Given the description of an element on the screen output the (x, y) to click on. 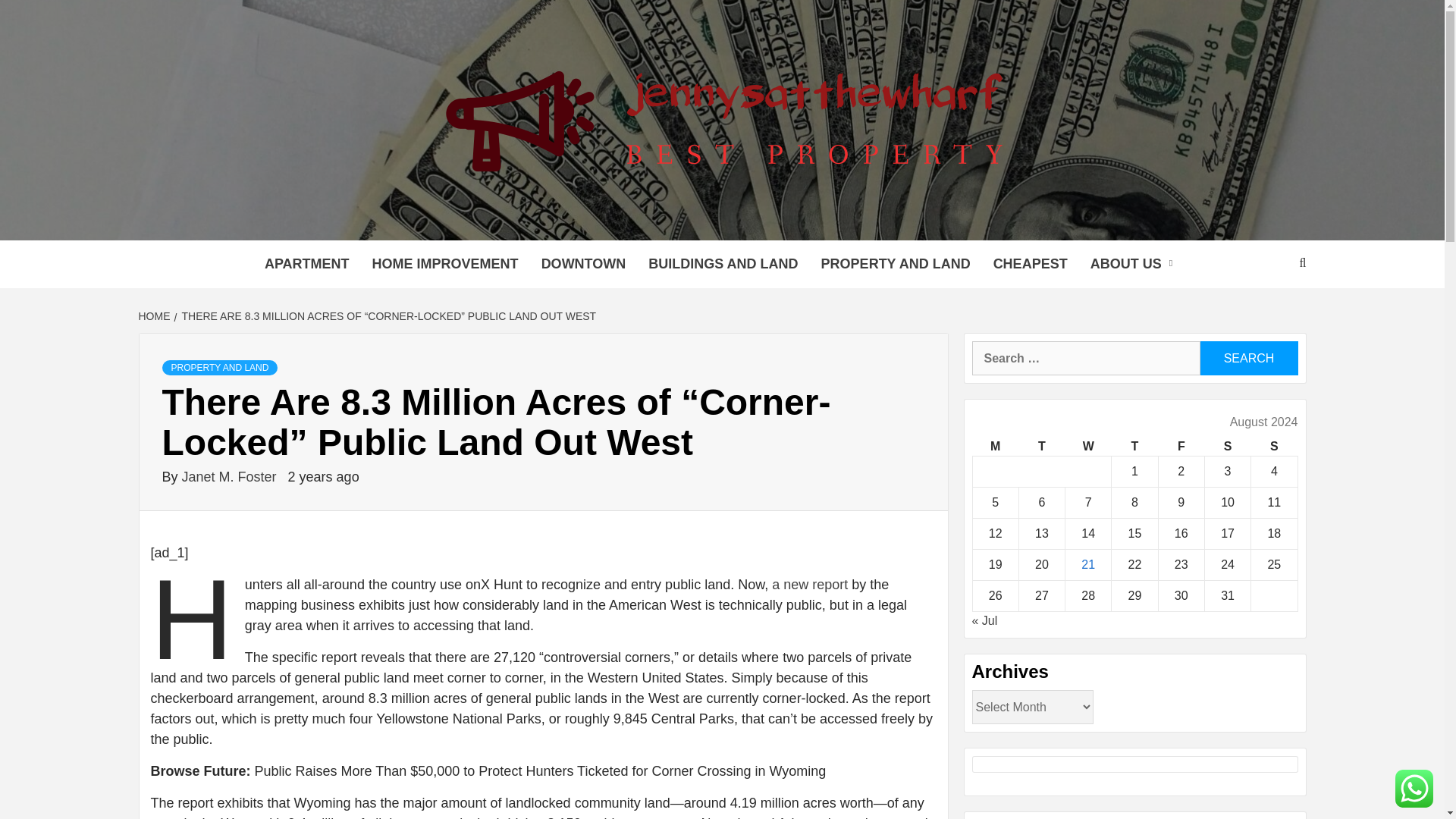
APARTMENT (307, 264)
BUILDINGS AND LAND (723, 264)
PROPERTY AND LAND (895, 264)
HOME IMPROVEMENT (445, 264)
Thursday (1134, 446)
Sunday (1273, 446)
Tuesday (1040, 446)
DOWNTOWN (583, 264)
ABOUT US (1134, 264)
Friday (1180, 446)
